Given the description of an element on the screen output the (x, y) to click on. 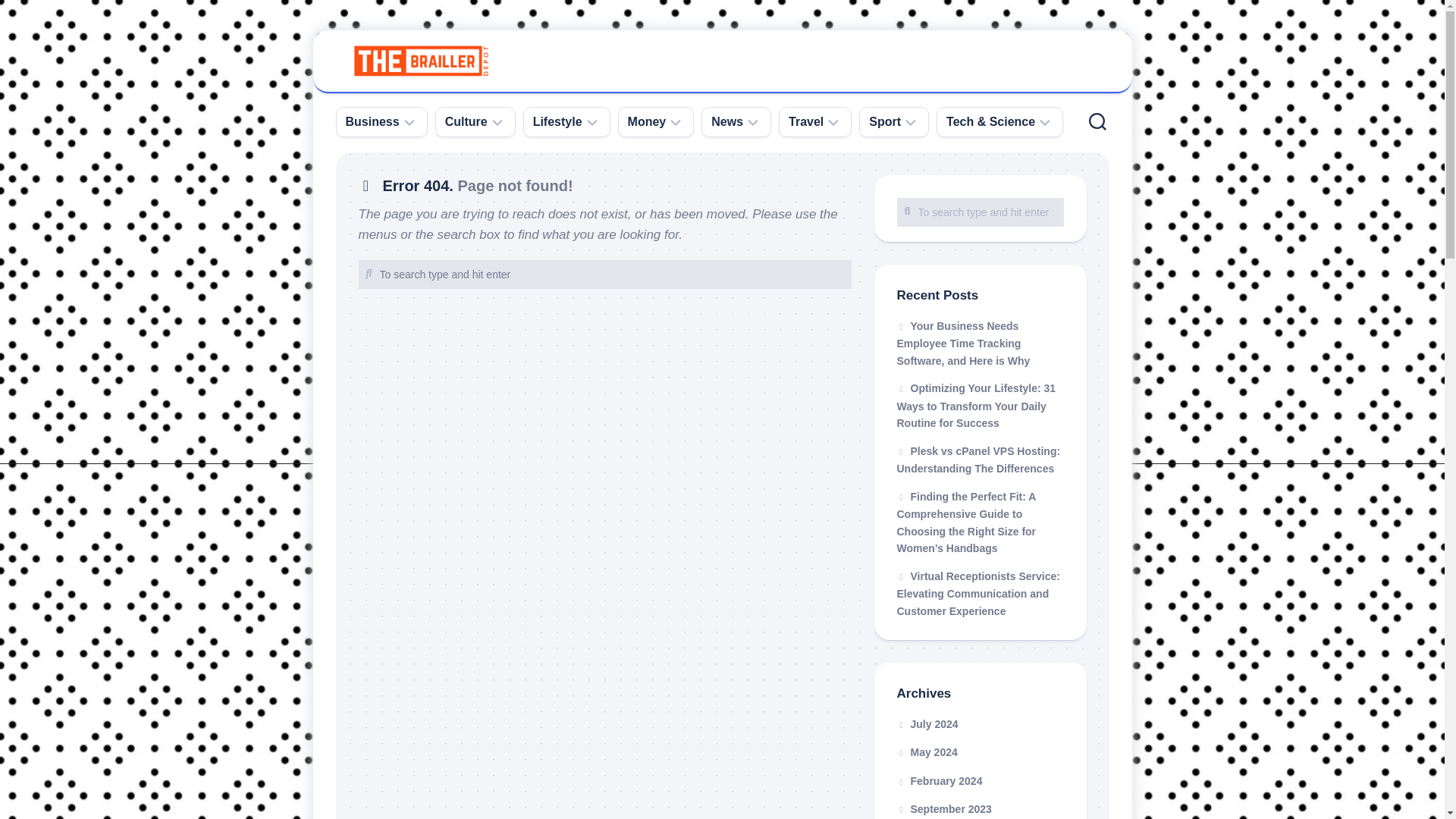
Lifestyle (557, 121)
To search type and hit enter (604, 274)
To search type and hit enter (979, 212)
To search type and hit enter (979, 212)
Culture (466, 121)
Money (646, 121)
Business (372, 121)
To search type and hit enter (604, 274)
